Given the description of an element on the screen output the (x, y) to click on. 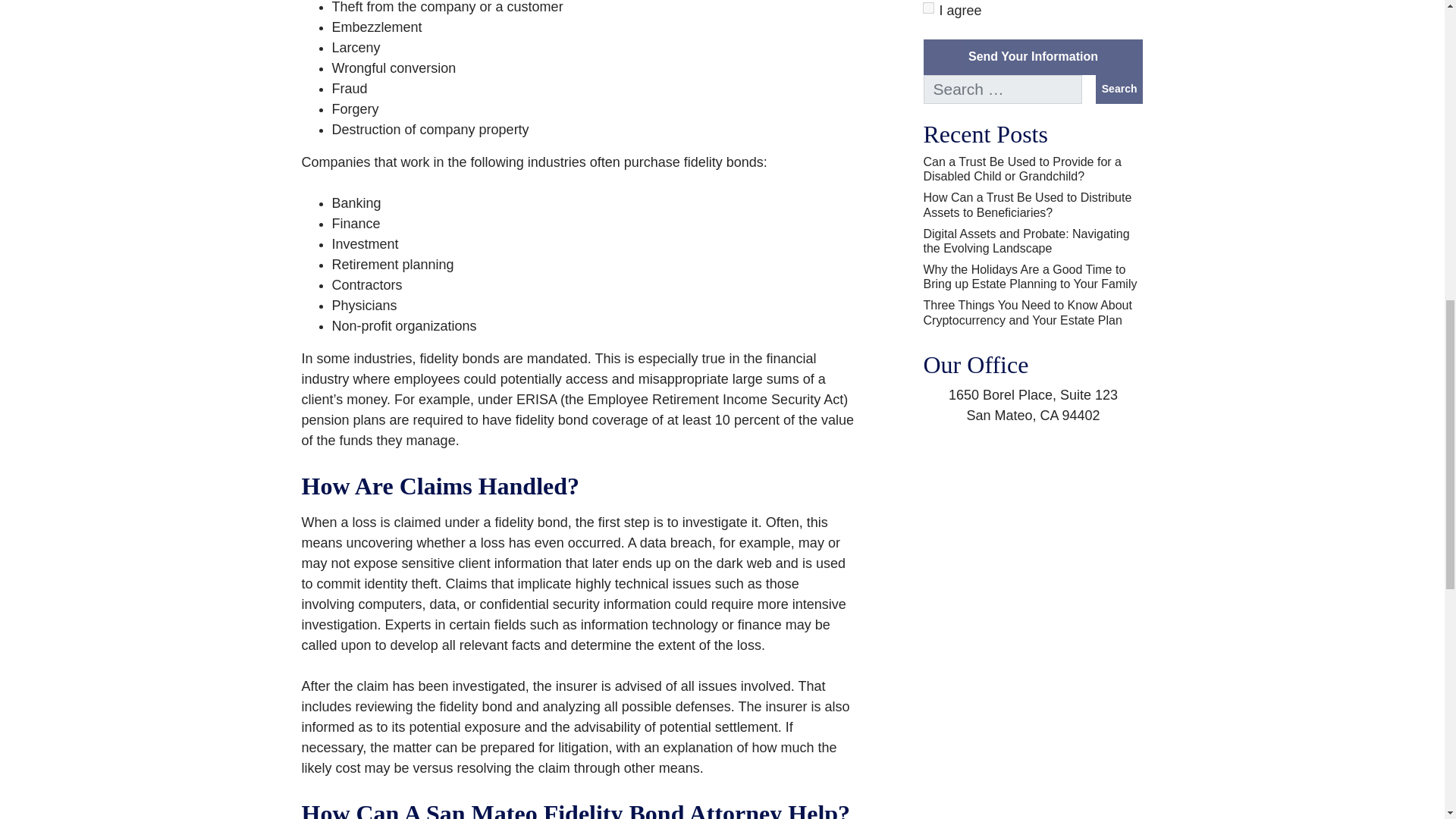
Search for: (1002, 89)
Search (1119, 89)
I agree (926, 7)
Search (1119, 89)
